Given the description of an element on the screen output the (x, y) to click on. 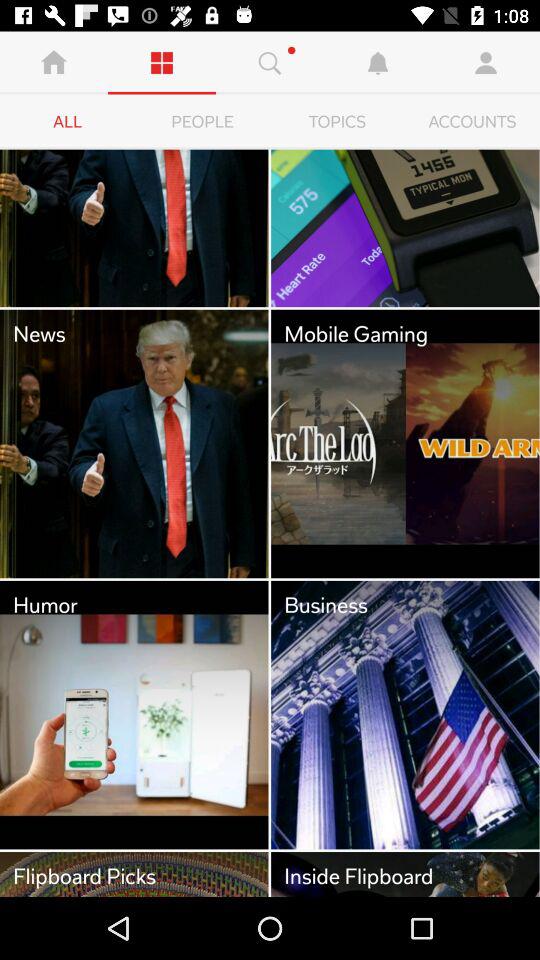
launch item above topics item (378, 62)
